Given the description of an element on the screen output the (x, y) to click on. 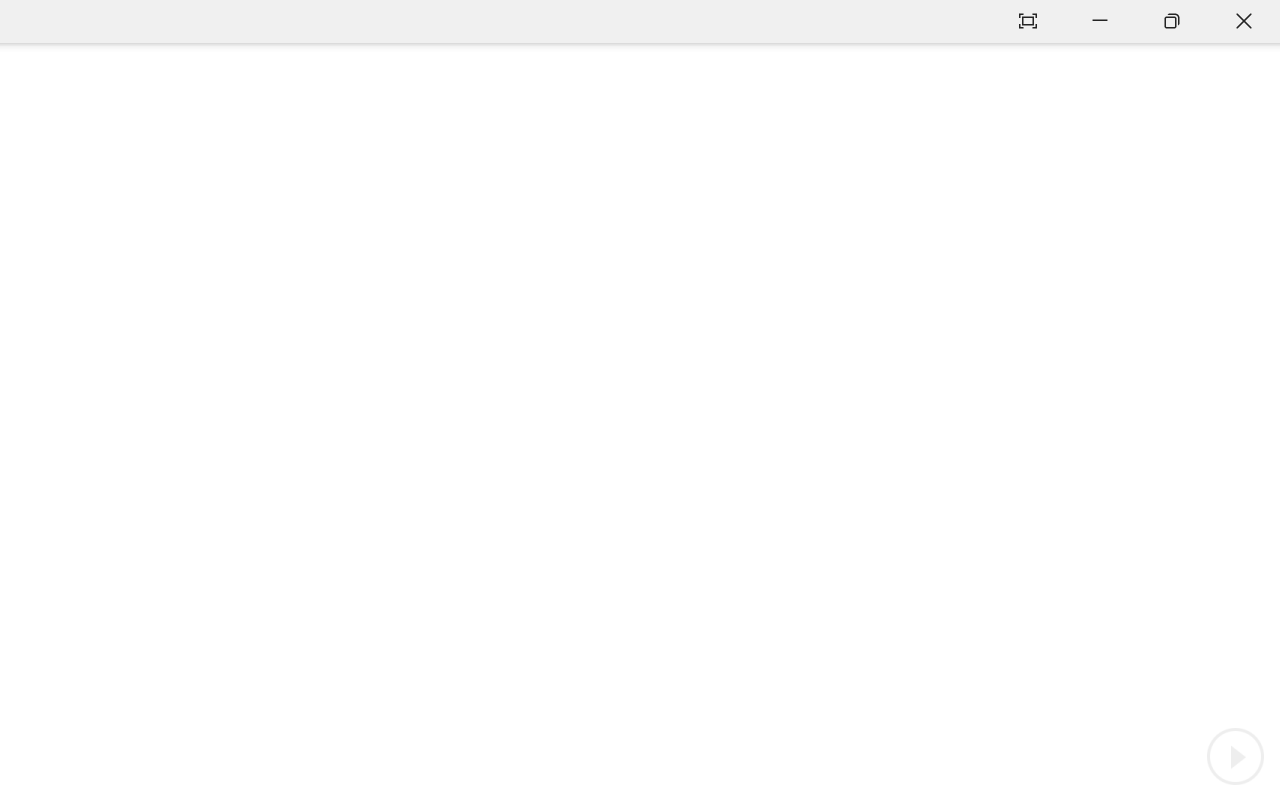
Designer (274, 114)
Select (61, 138)
Format Object... (9, 168)
Replace... (60, 112)
Close pane (1215, 209)
Replace... (68, 112)
Task Pane Options (1183, 209)
